Given the description of an element on the screen output the (x, y) to click on. 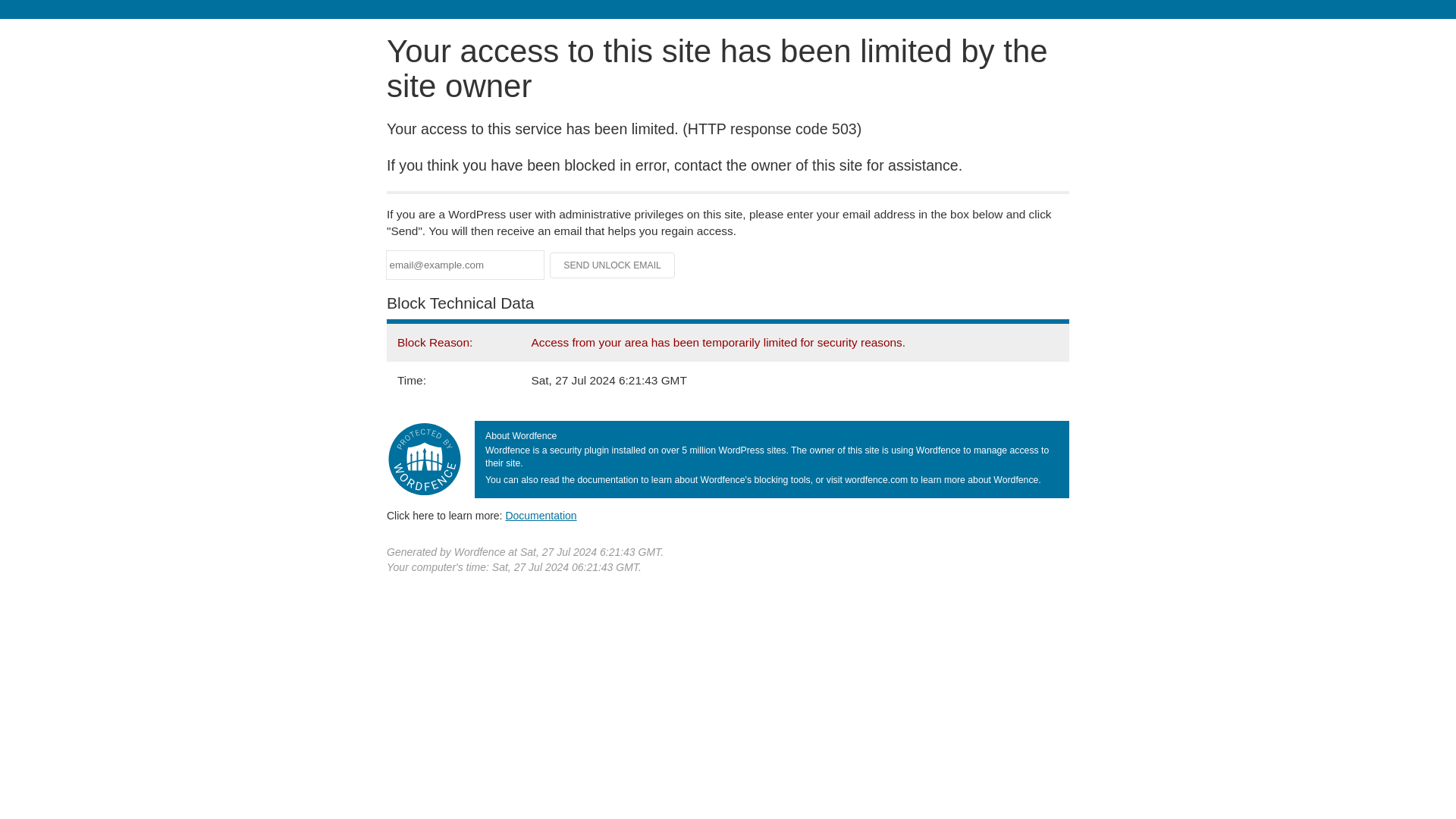
Send Unlock Email (612, 265)
Send Unlock Email (612, 265)
Documentation (540, 515)
